Given the description of an element on the screen output the (x, y) to click on. 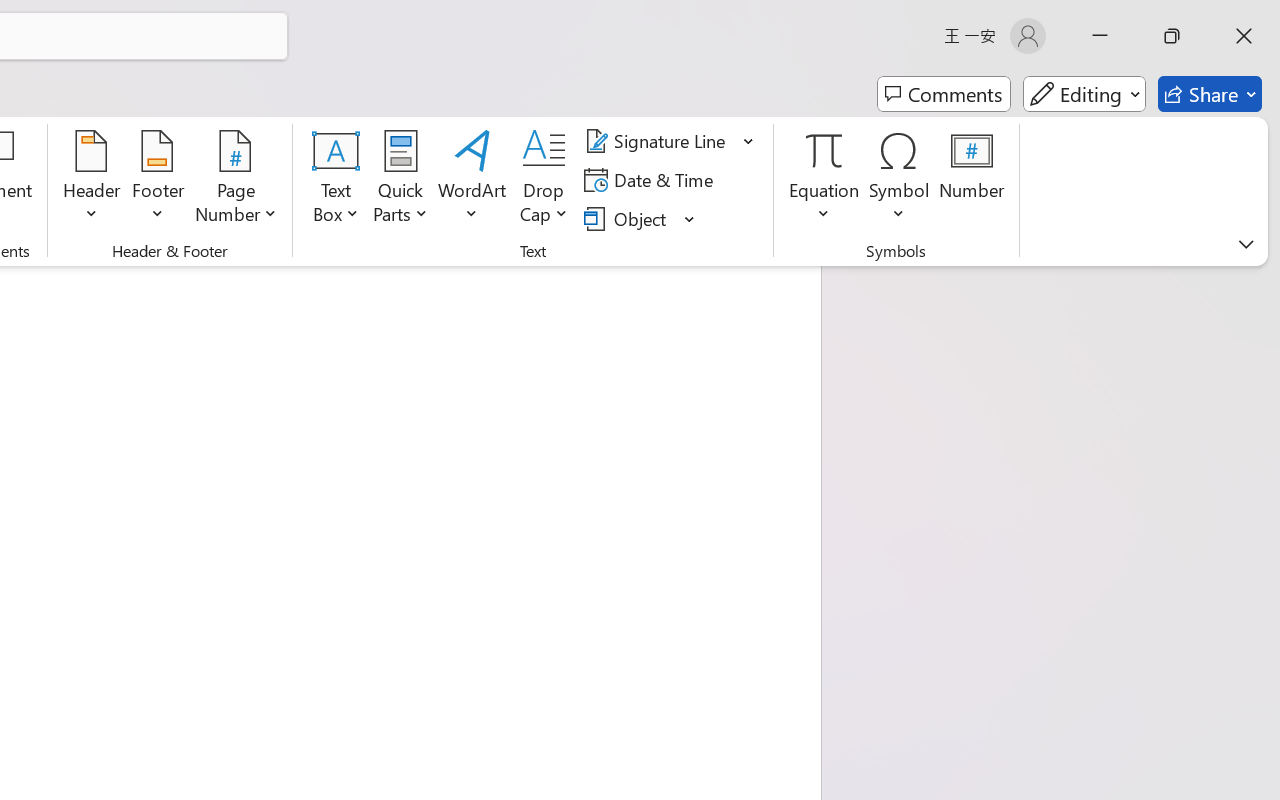
Minimize (1099, 36)
Restore Down (1172, 36)
Close (1244, 36)
Share (1210, 94)
Comments (943, 94)
Mode (1083, 94)
